Given the description of an element on the screen output the (x, y) to click on. 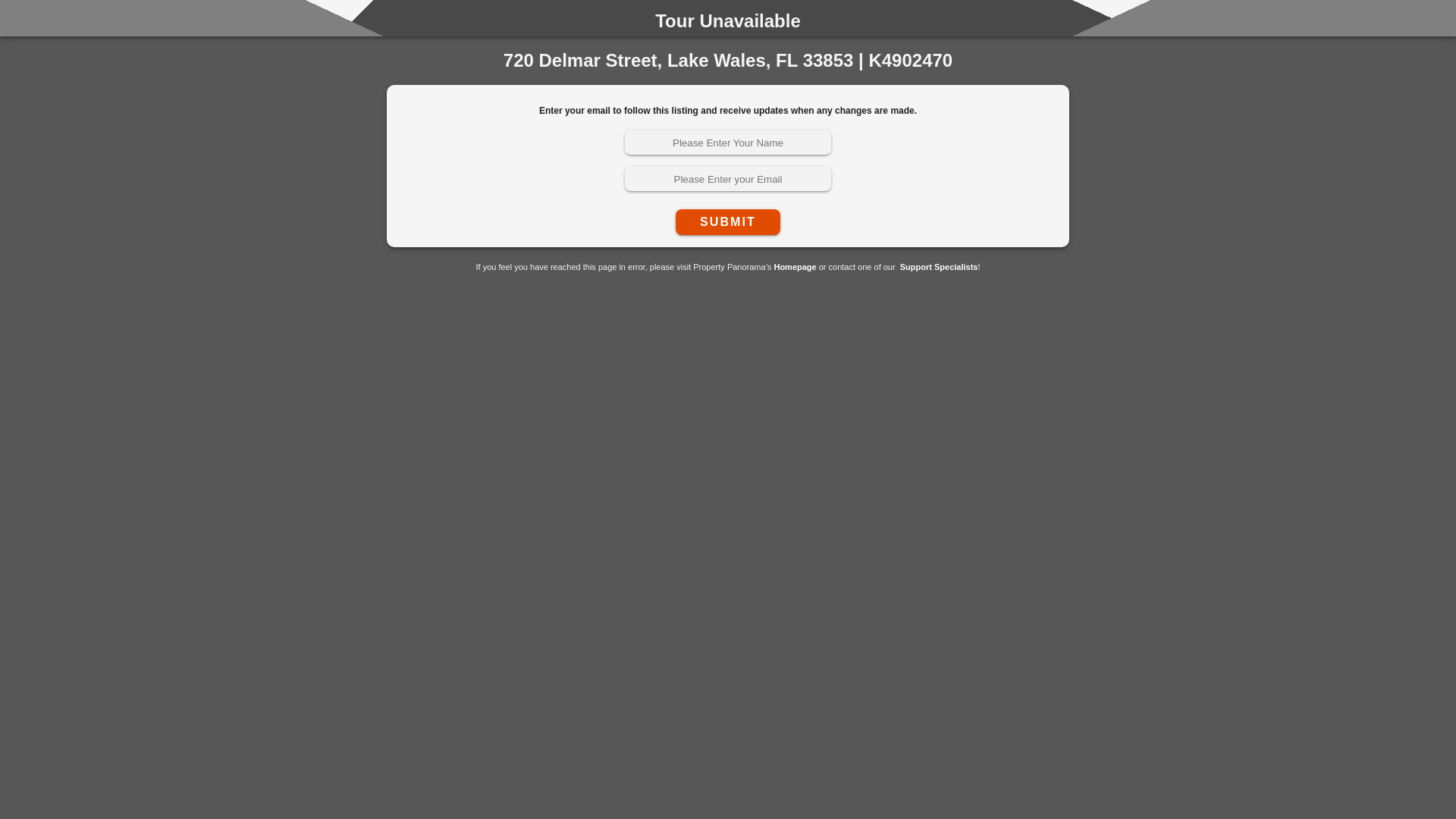
Support Specialists (938, 266)
SUBMIT (669, 222)
Homepage (794, 266)
